Given the description of an element on the screen output the (x, y) to click on. 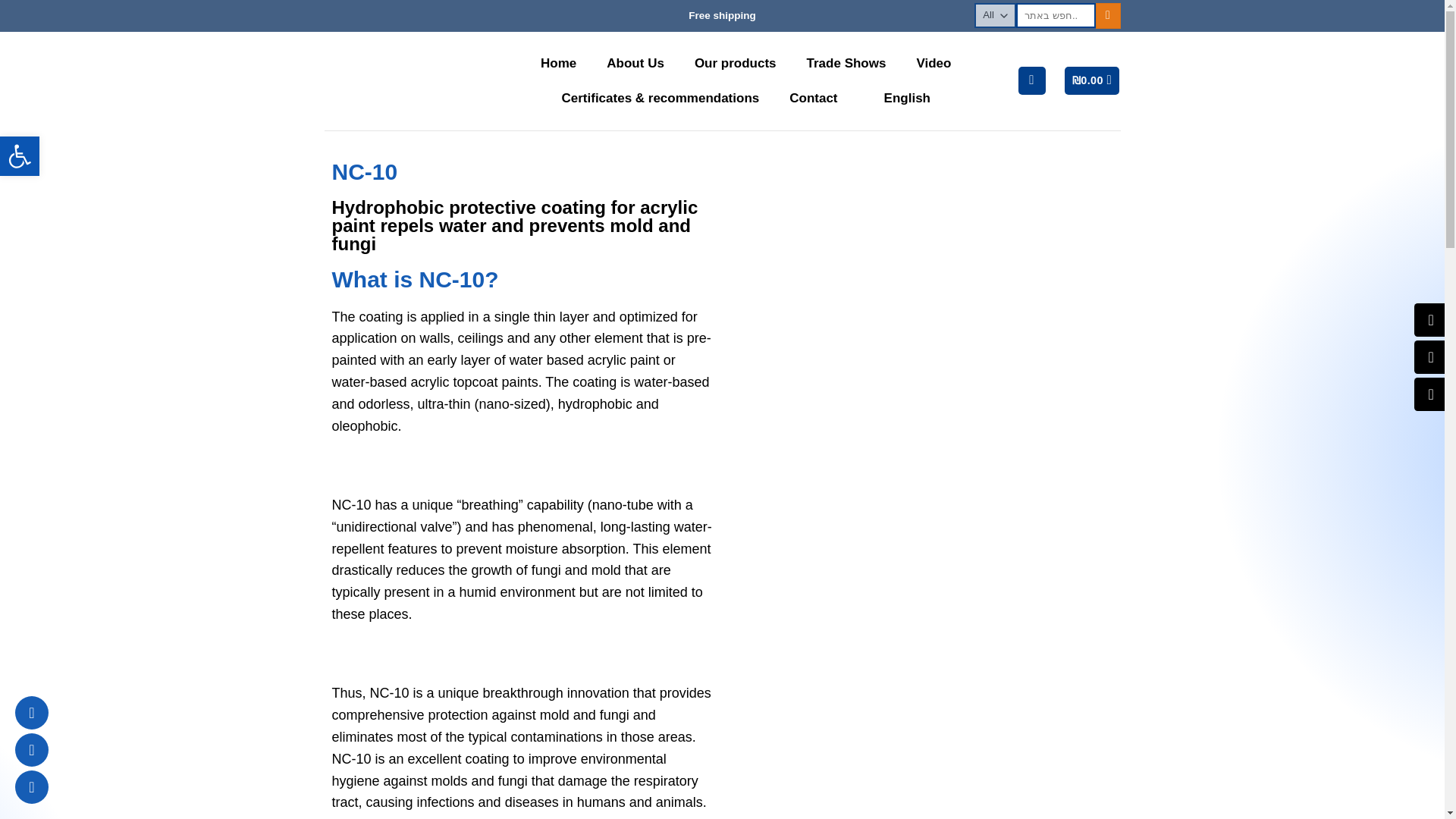
Search (1108, 15)
Accessibility Tools (19, 156)
Cart (1091, 80)
Accessibility Tools (19, 156)
